Given the description of an element on the screen output the (x, y) to click on. 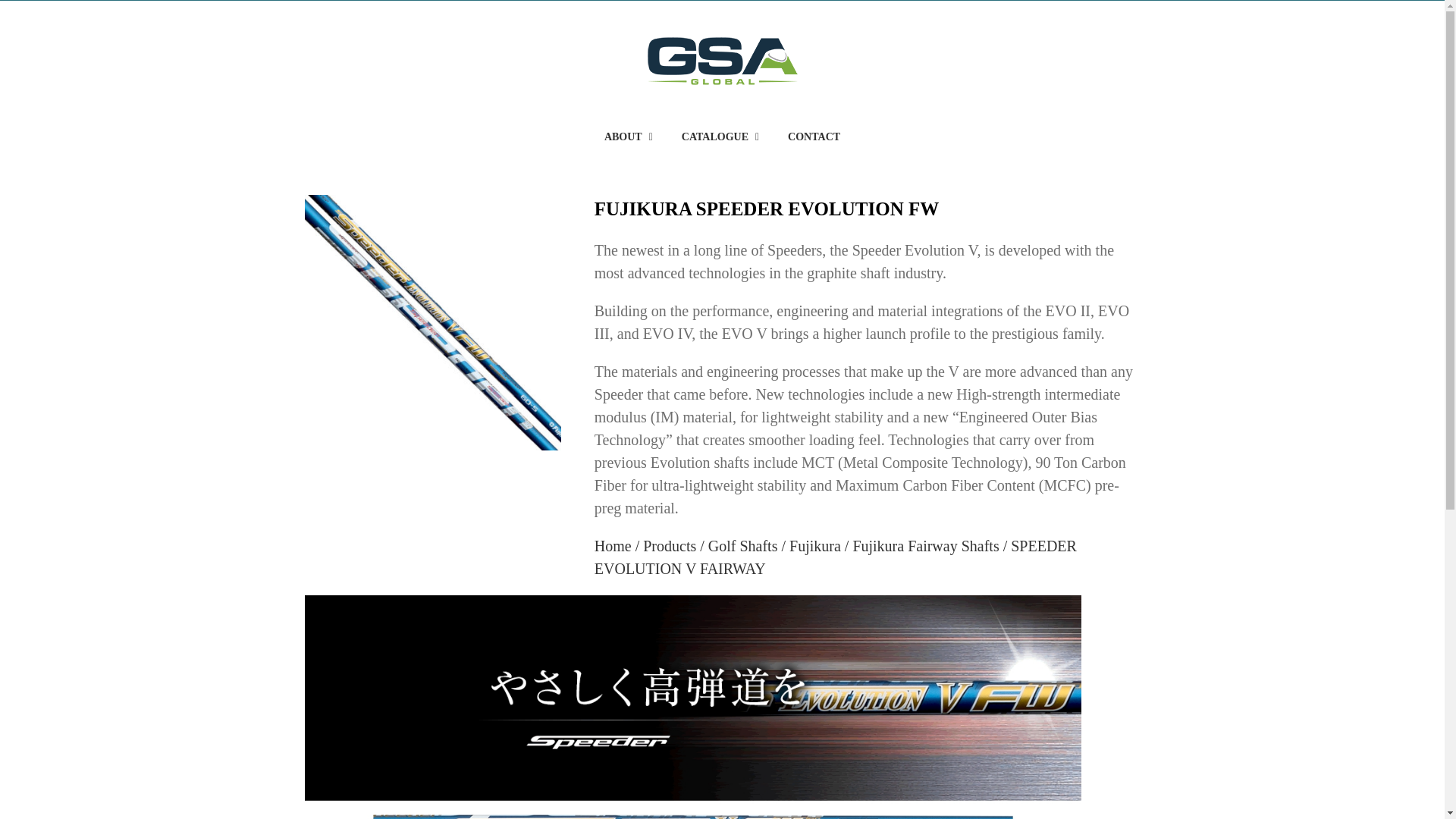
ABOUT (628, 137)
Golf Shafts (742, 545)
Home (612, 545)
Products (669, 545)
CATALOGUE (719, 137)
fujikura-speeder-evolution-v-fw-shafts (432, 322)
CONTACT (813, 137)
